Given the description of an element on the screen output the (x, y) to click on. 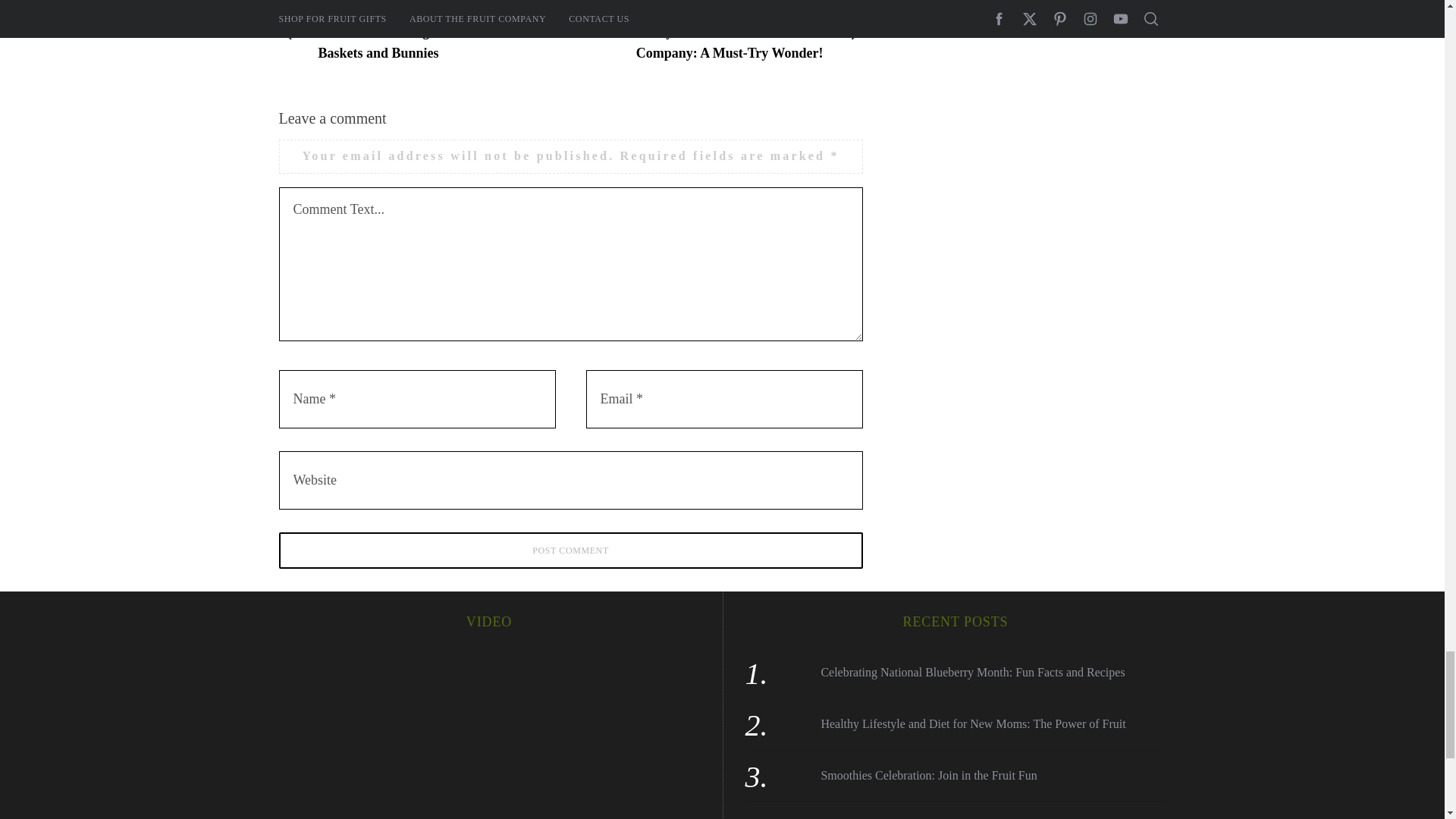
Post Comment (571, 550)
